Given the description of an element on the screen output the (x, y) to click on. 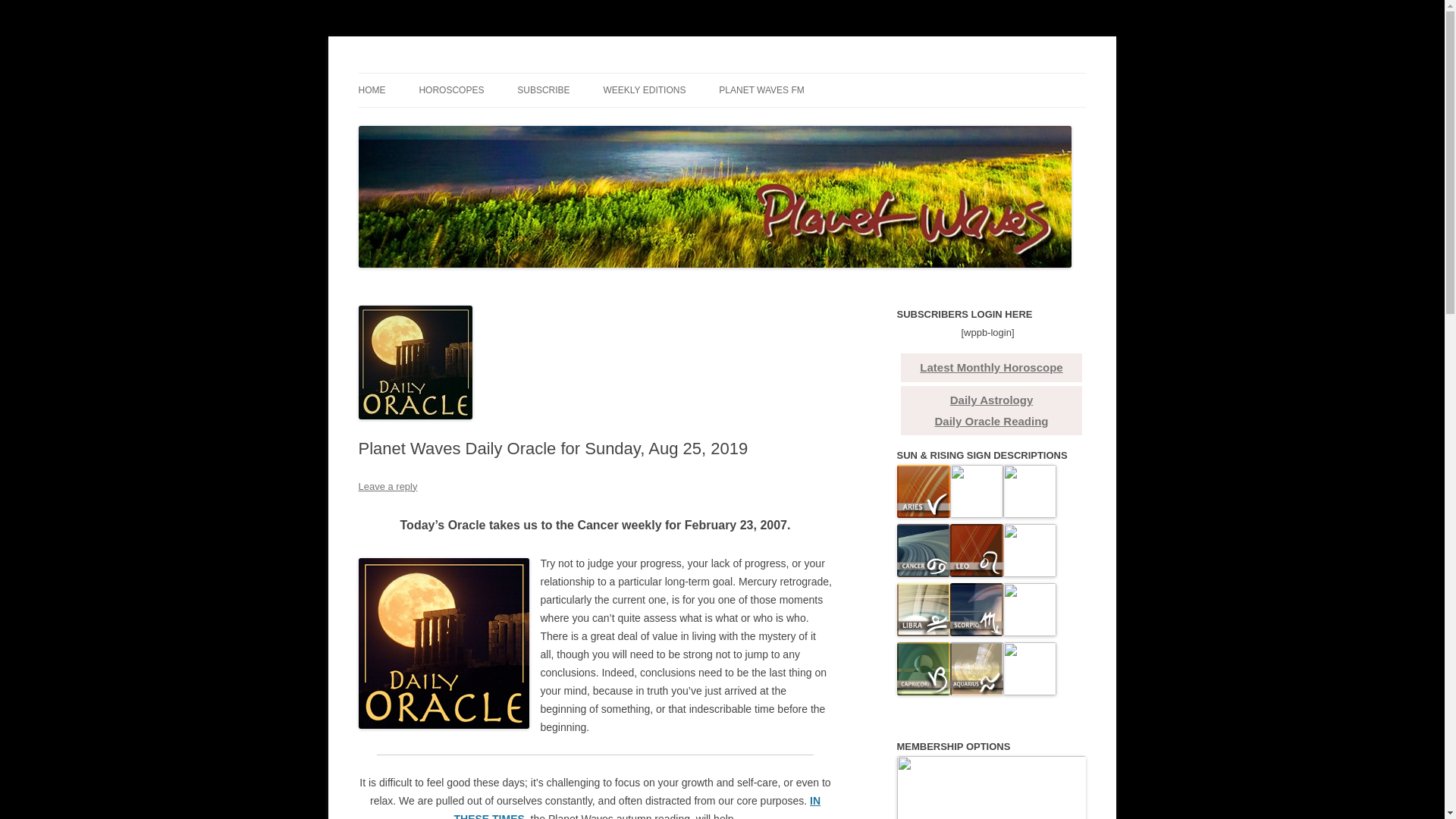
SUBSCRIBE (542, 90)
Planet Waves Astrology by Eric Francis and Friends (601, 72)
Leave a reply (387, 486)
Daily Oracle Reading (991, 420)
Latest Monthly Horoscope (991, 367)
Daily Astrology (991, 399)
PLANET WAVES FM (761, 90)
WEEKLY EDITIONS (644, 90)
HOROSCOPES (451, 90)
READINGS (433, 122)
IN THESE TIMES (636, 806)
